Given the description of an element on the screen output the (x, y) to click on. 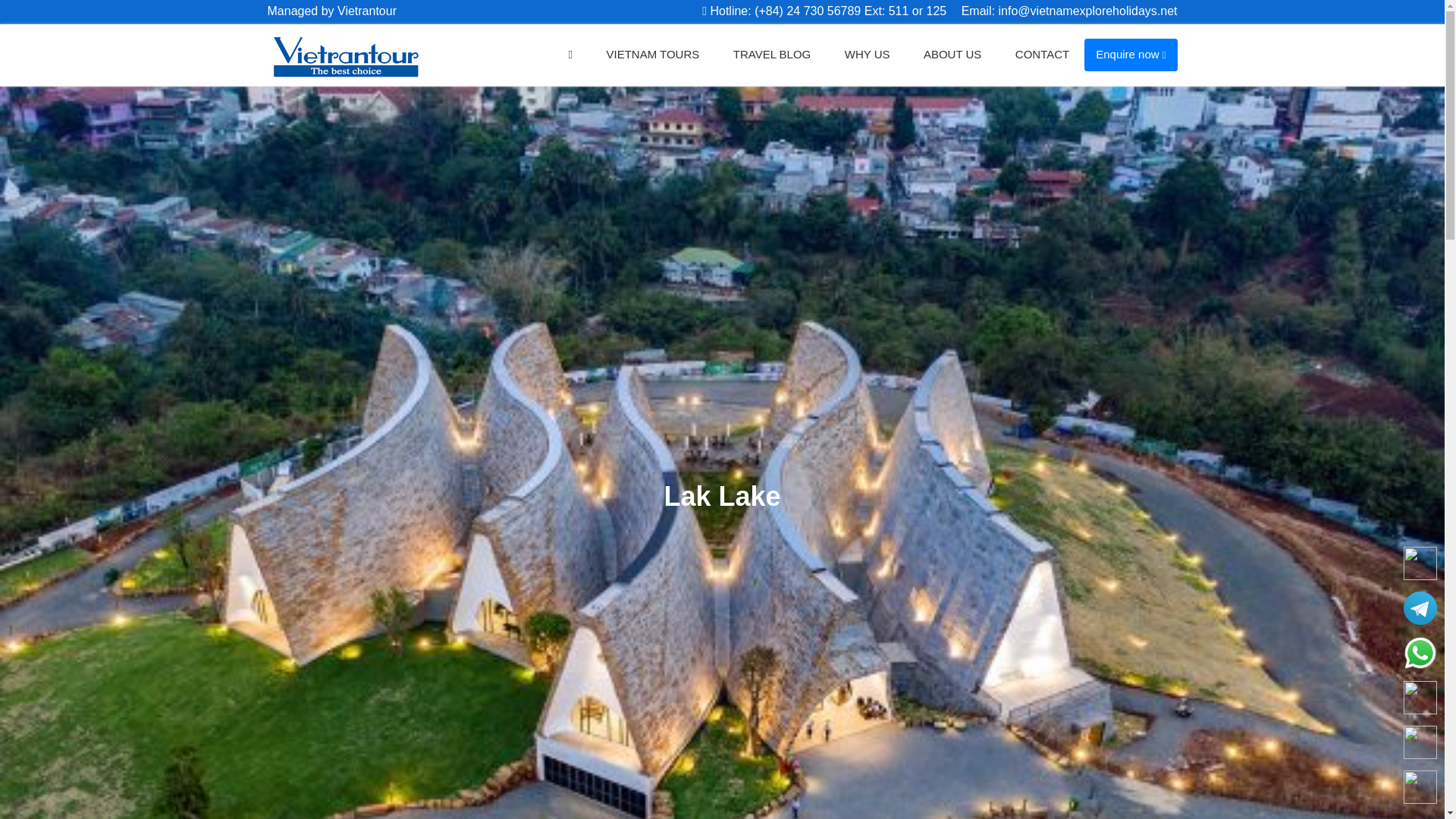
VIETNAM TOURS (652, 54)
TRAVEL BLOG (772, 54)
Managed by Vietrantour (331, 10)
WHY US (867, 54)
CONTACT (1042, 54)
Enquire now (1130, 54)
ABOUT US (951, 54)
